Given the description of an element on the screen output the (x, y) to click on. 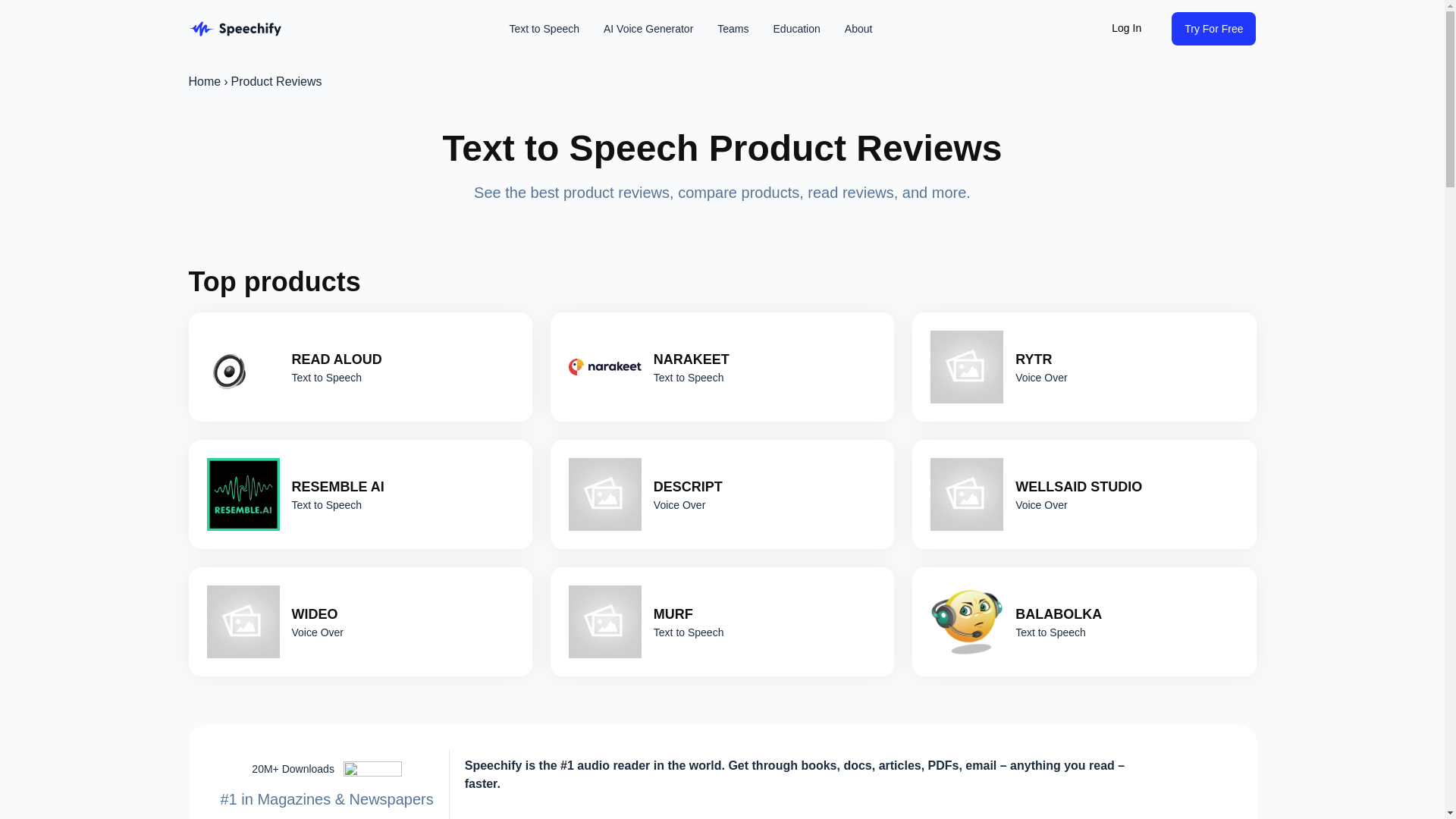
Text to Speech (543, 28)
Education (796, 28)
About (858, 28)
Home (204, 81)
AI Voice Generator (647, 28)
Teams (732, 28)
Log In (1126, 28)
Try For Free (1213, 28)
